Given the description of an element on the screen output the (x, y) to click on. 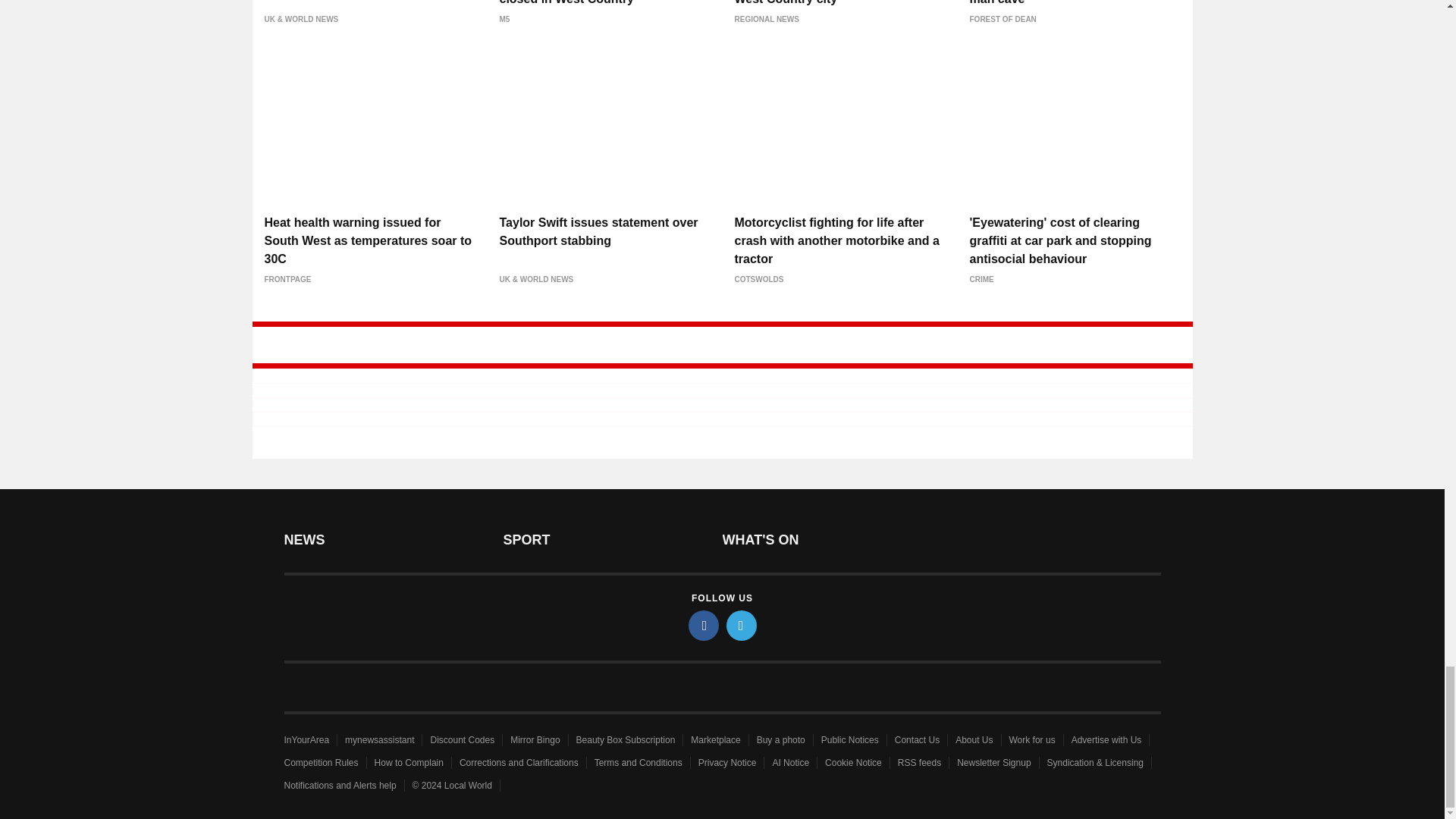
facebook (703, 625)
twitter (741, 625)
